Given the description of an element on the screen output the (x, y) to click on. 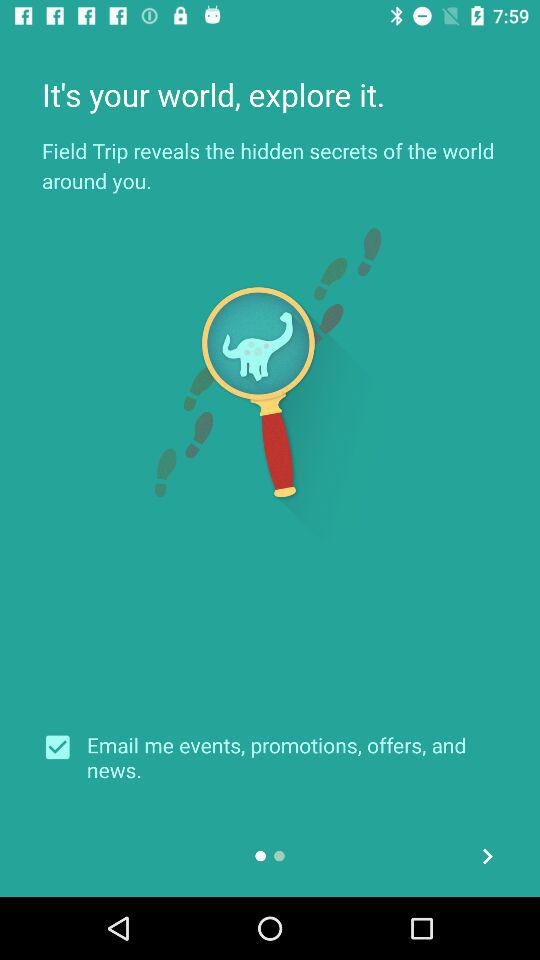
jump to email me events icon (292, 757)
